Given the description of an element on the screen output the (x, y) to click on. 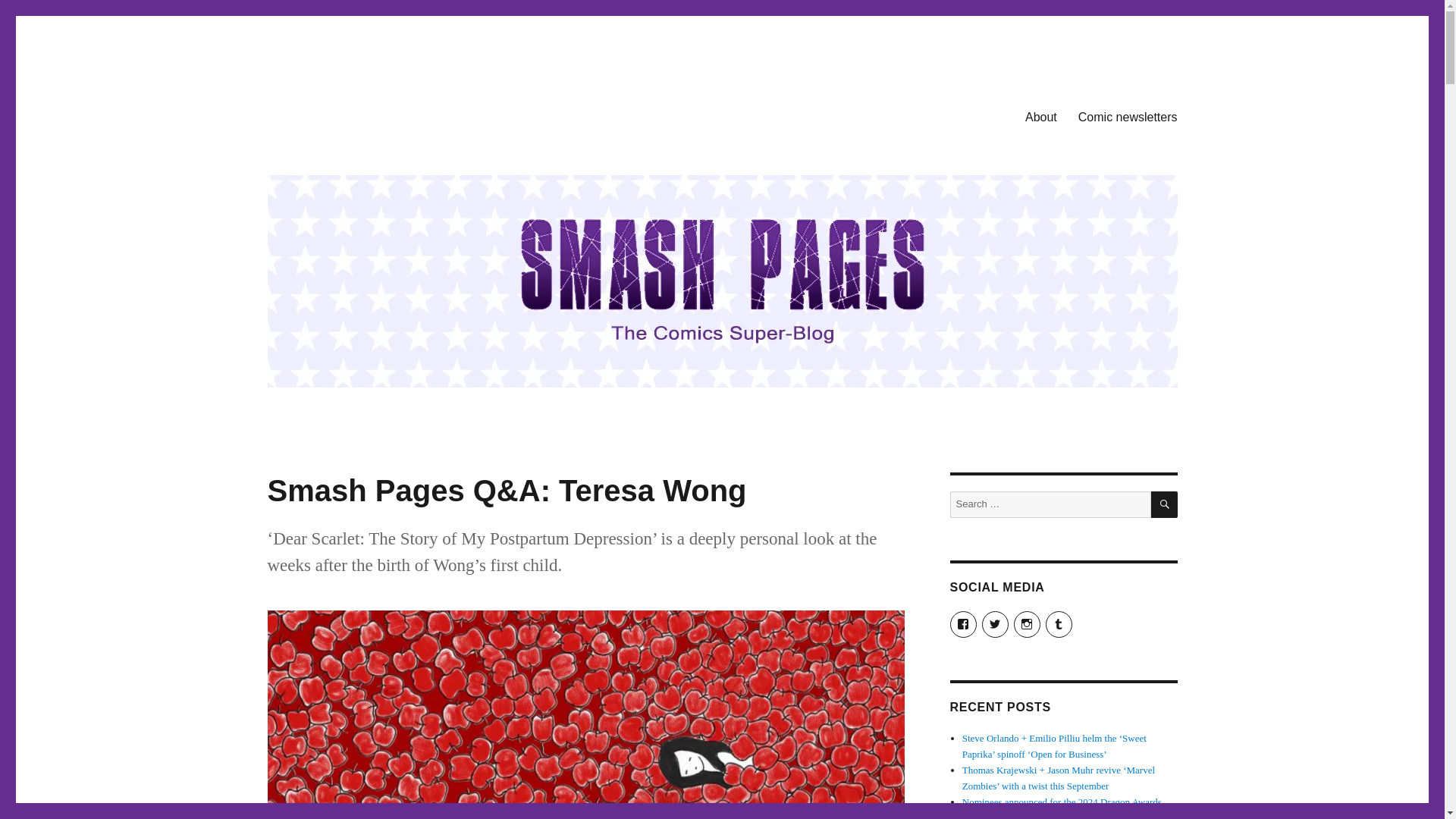
About (1040, 116)
Nominees announced for the 2024 Dragon Awards (1061, 801)
Comic newsletters (1127, 116)
SMASH PAGES (344, 114)
SEARCH (1164, 504)
